Given the description of an element on the screen output the (x, y) to click on. 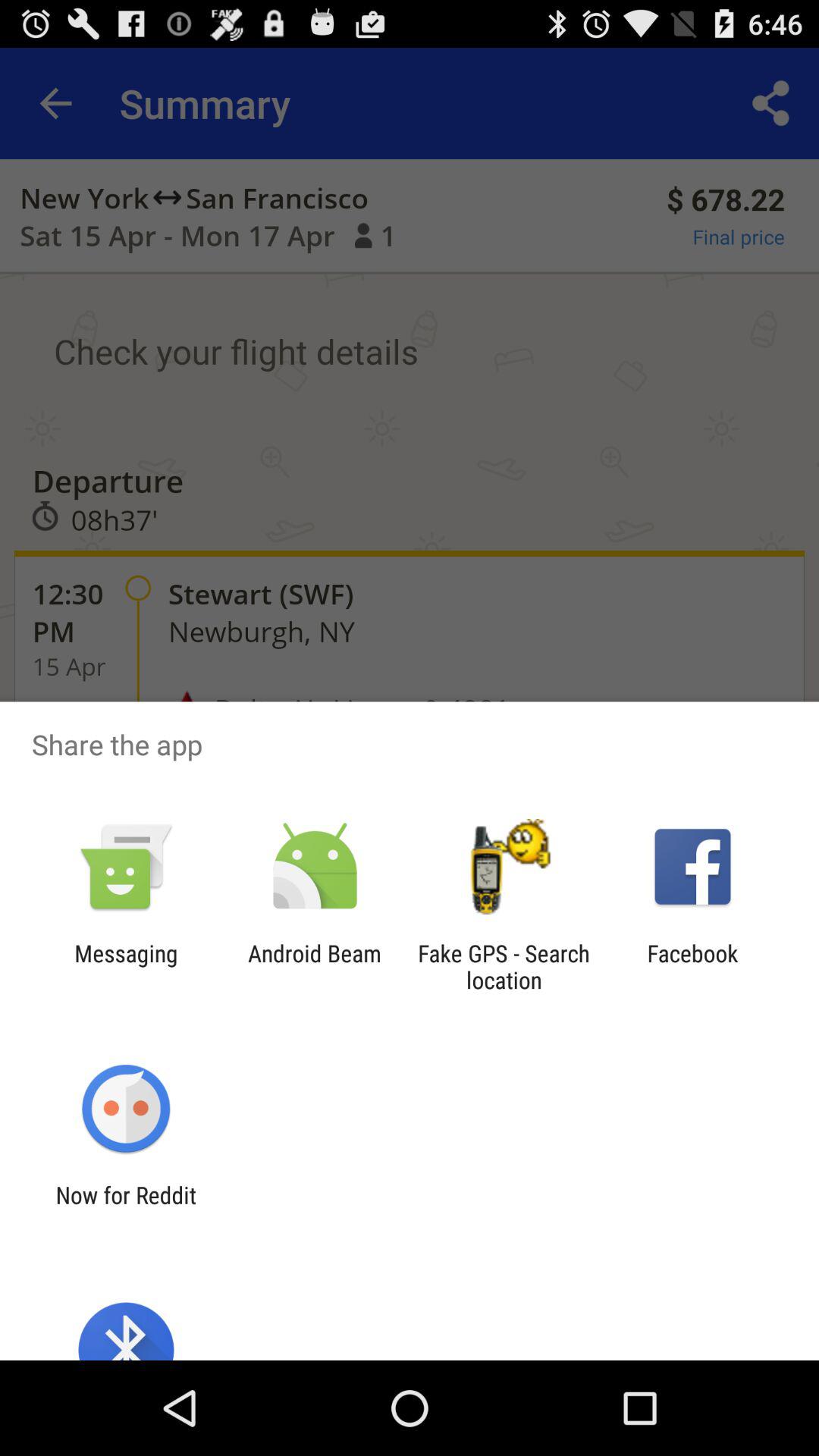
turn on item next to the messaging (314, 966)
